Given the description of an element on the screen output the (x, y) to click on. 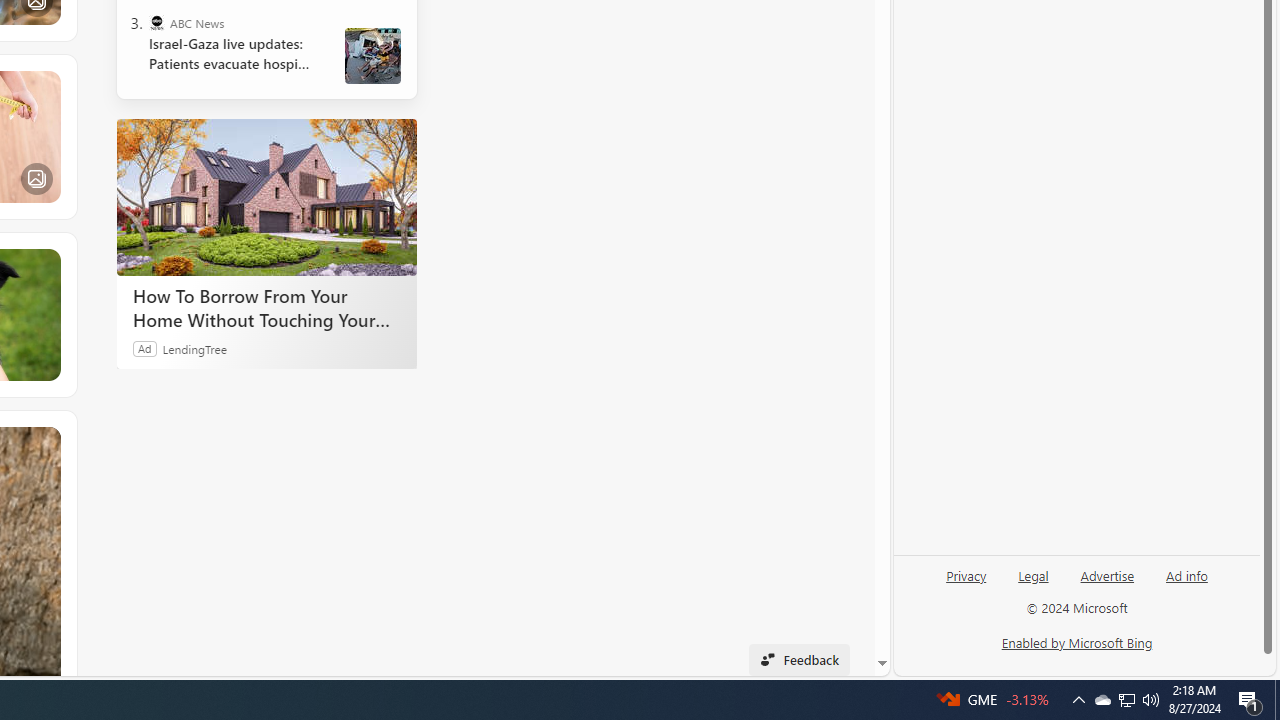
Ad (145, 348)
ABC News (156, 22)
Legal (1033, 583)
Privacy (966, 583)
